Given the description of an element on the screen output the (x, y) to click on. 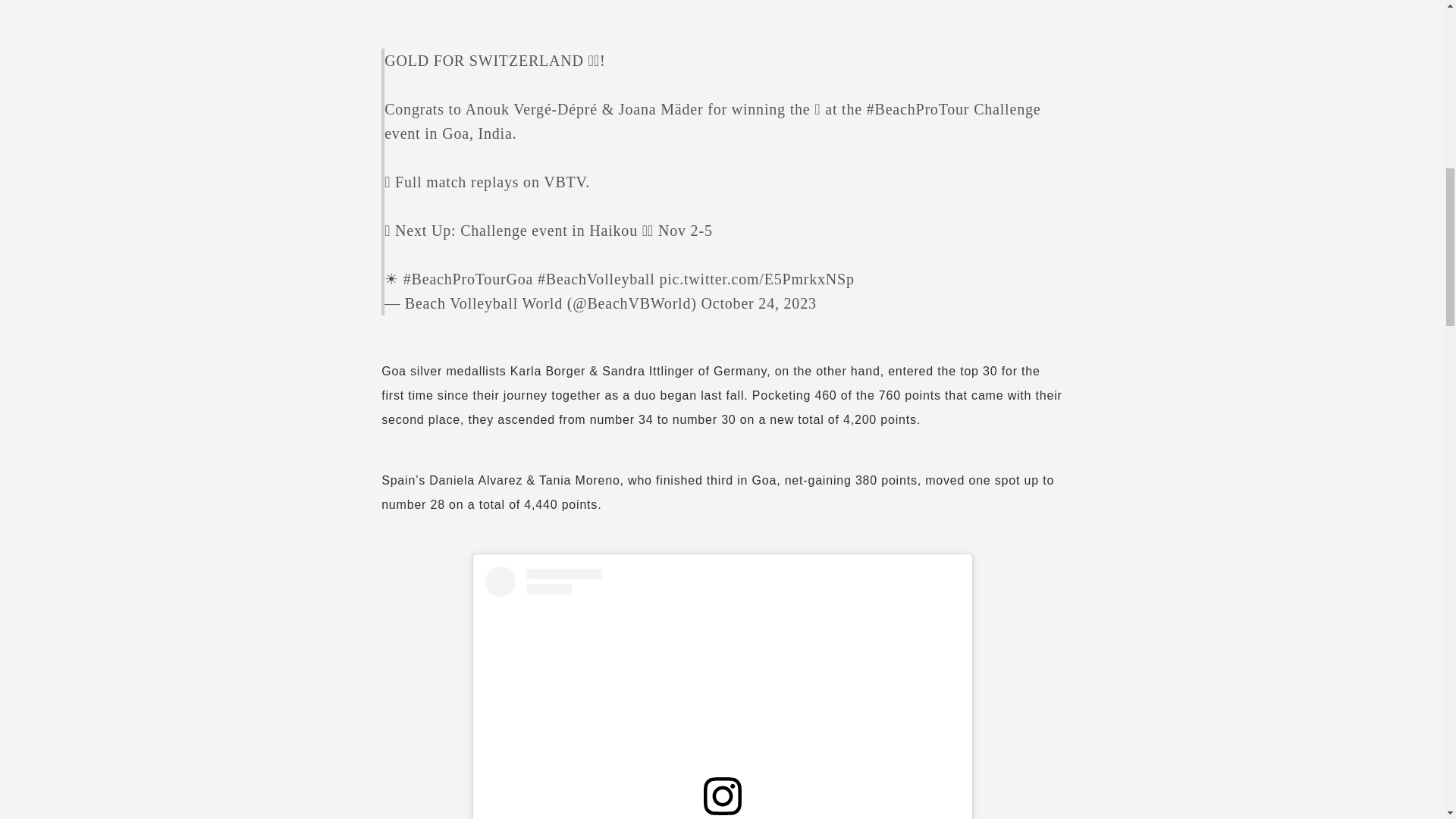
October 24, 2023 (758, 303)
